Given the description of an element on the screen output the (x, y) to click on. 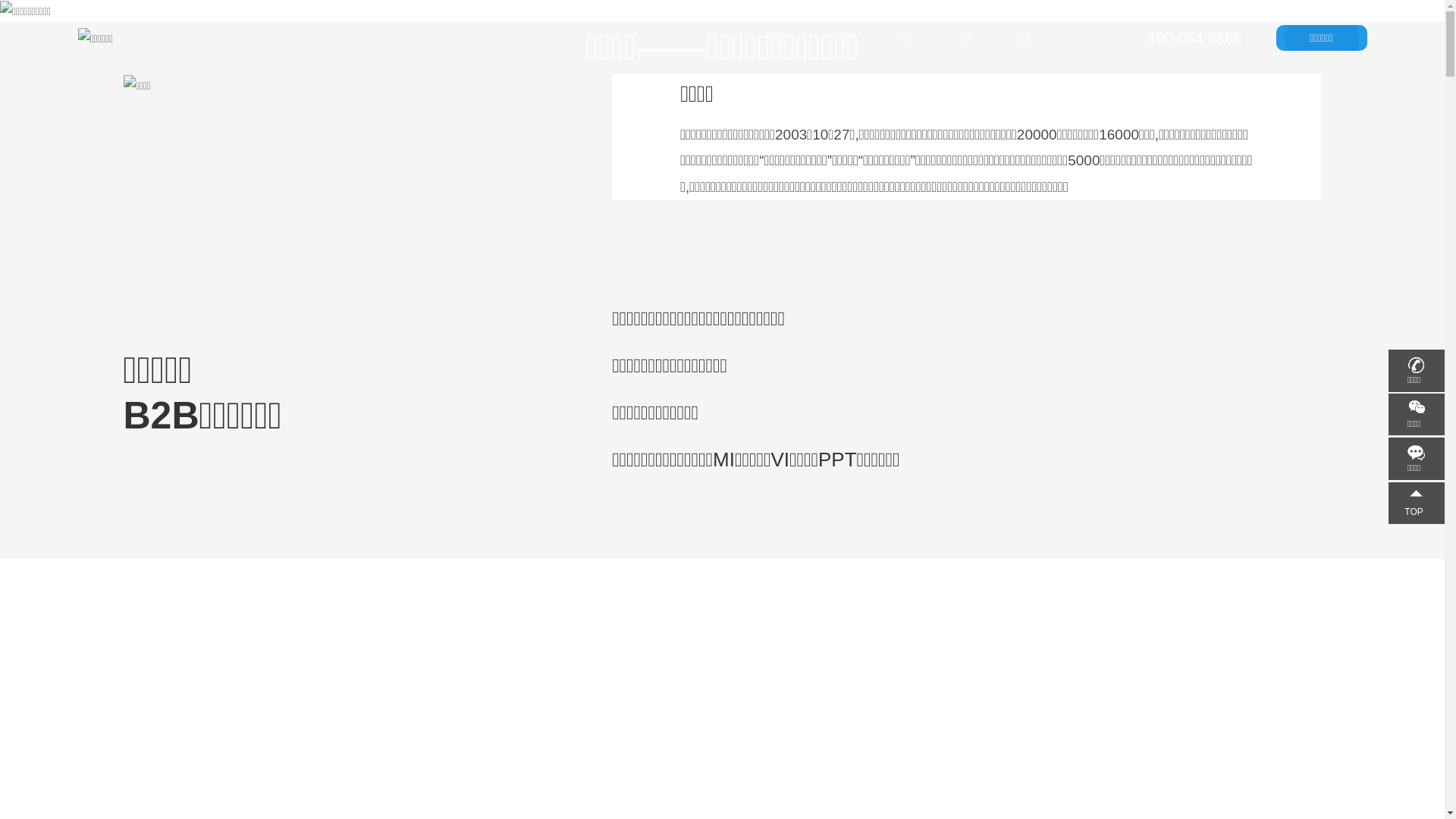
TOP Element type: text (1417, 502)
